Given the description of an element on the screen output the (x, y) to click on. 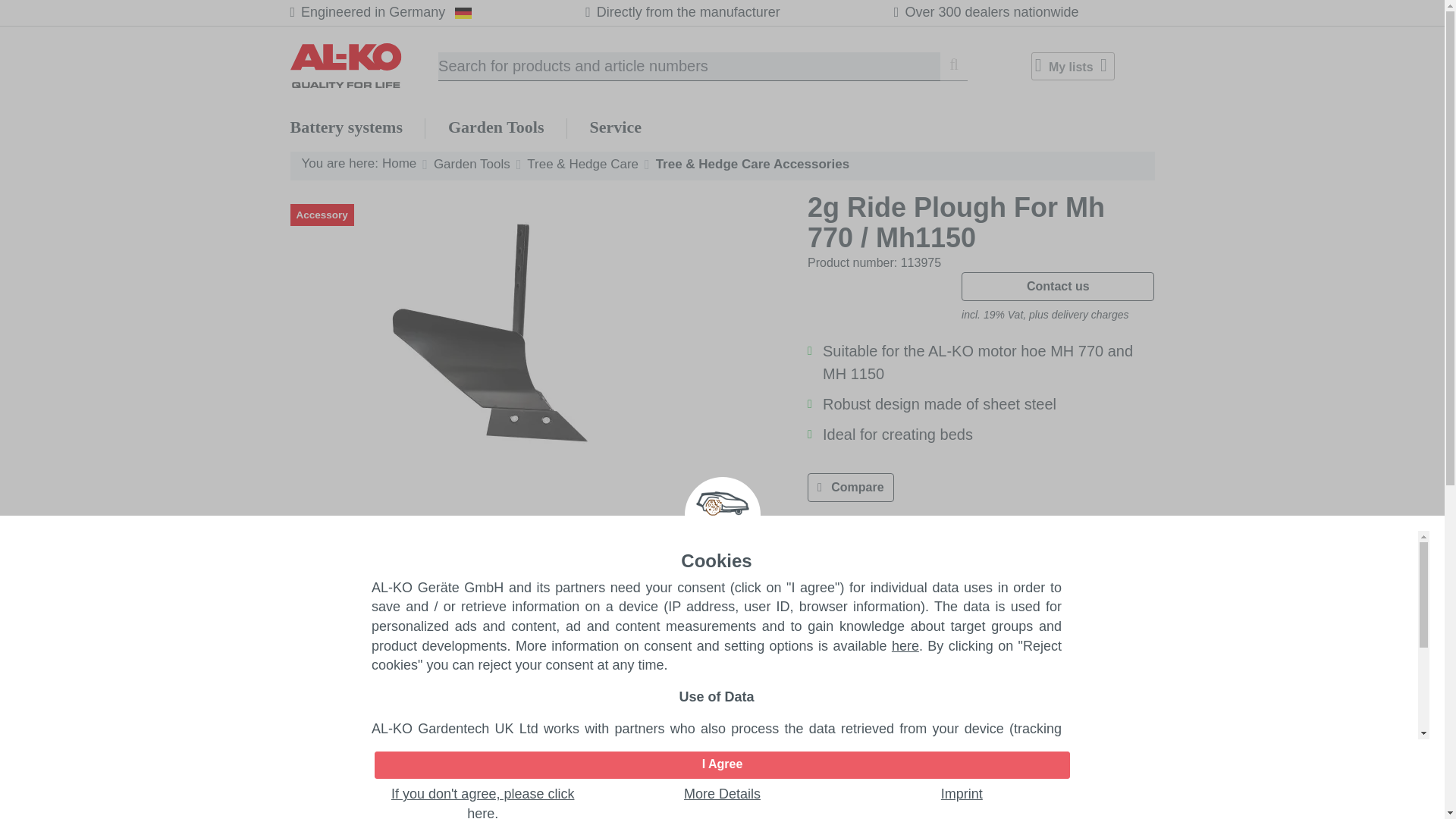
Battery systems (346, 127)
Search (954, 66)
My lists (1072, 66)
Battery systems (346, 127)
Garden Tools (496, 127)
AL-KO Gardentech (363, 65)
Garden Tools (496, 127)
